Given the description of an element on the screen output the (x, y) to click on. 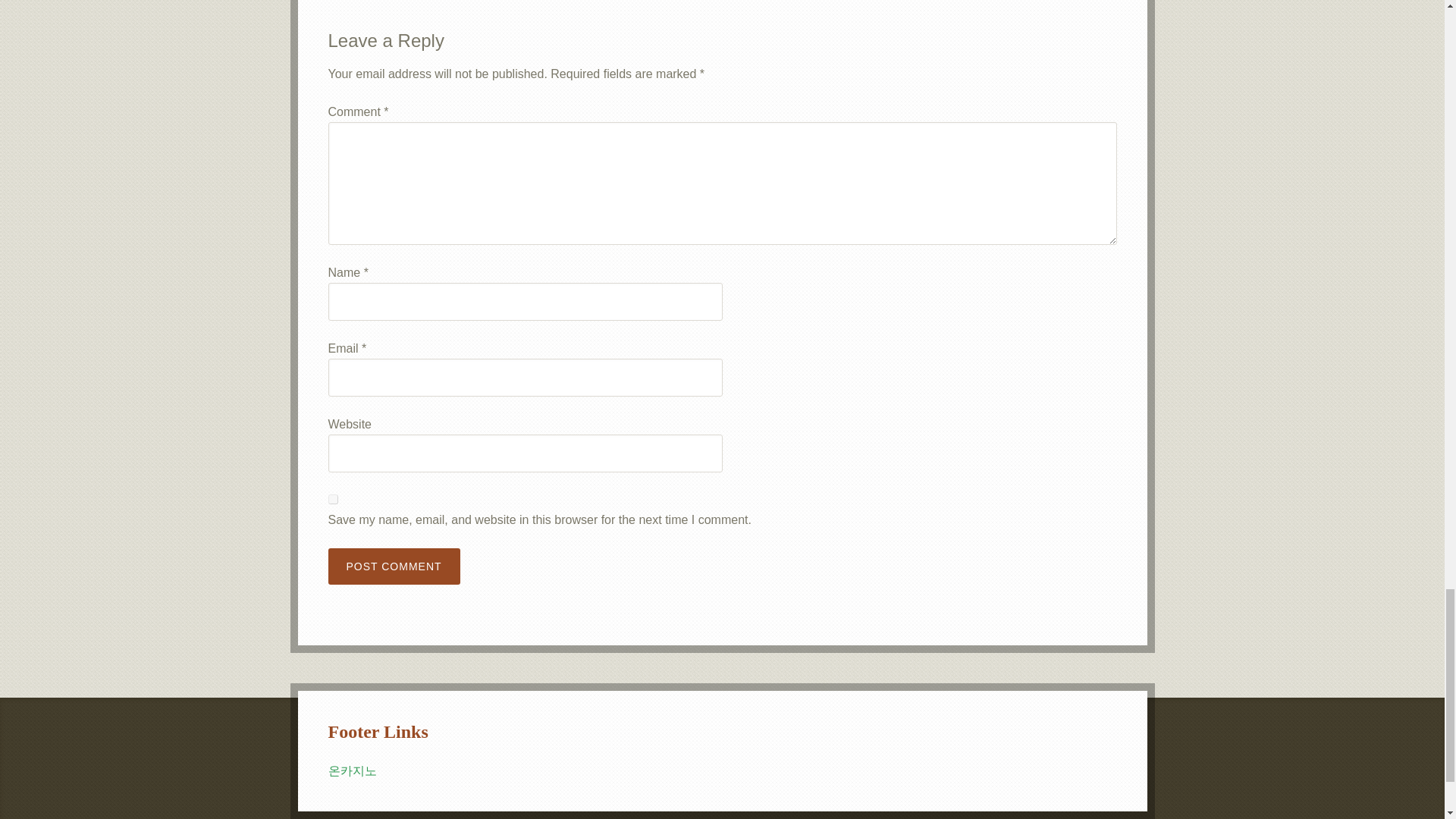
yes (332, 499)
Post Comment (393, 565)
Post Comment (393, 565)
